Given the description of an element on the screen output the (x, y) to click on. 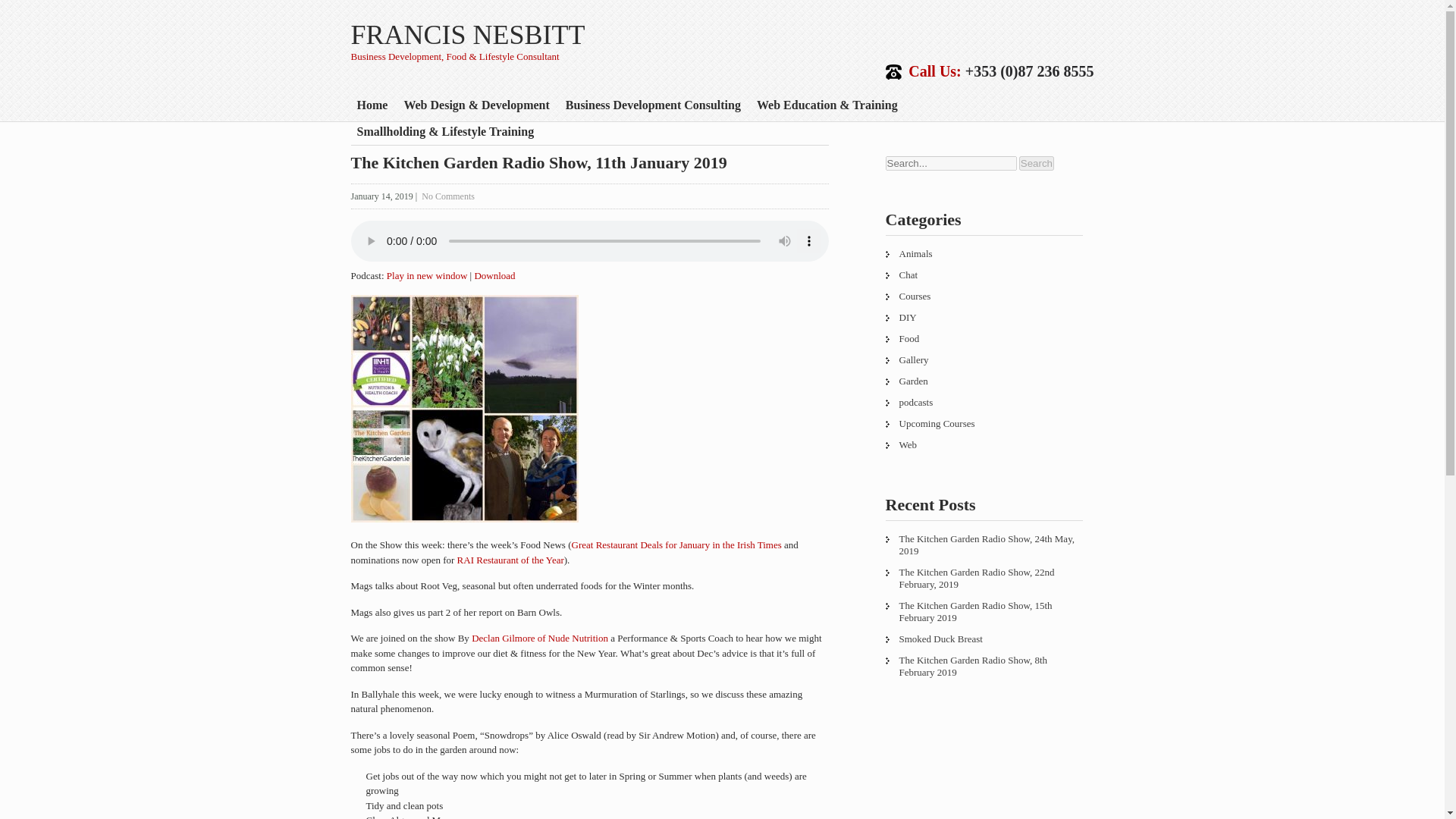
podcasts (984, 402)
Download (494, 275)
Play in new window (427, 275)
Food (984, 338)
Gallery (984, 360)
The Kitchen Garden Radio Show, 15th February 2019 (984, 611)
The Kitchen Garden Radio Show, 24th May, 2019 (984, 544)
Podcasts of The Kitchen Garden and other shows. (984, 402)
Great Restaurant Deals for January in the Irish Times (676, 544)
Animals (984, 253)
